Given the description of an element on the screen output the (x, y) to click on. 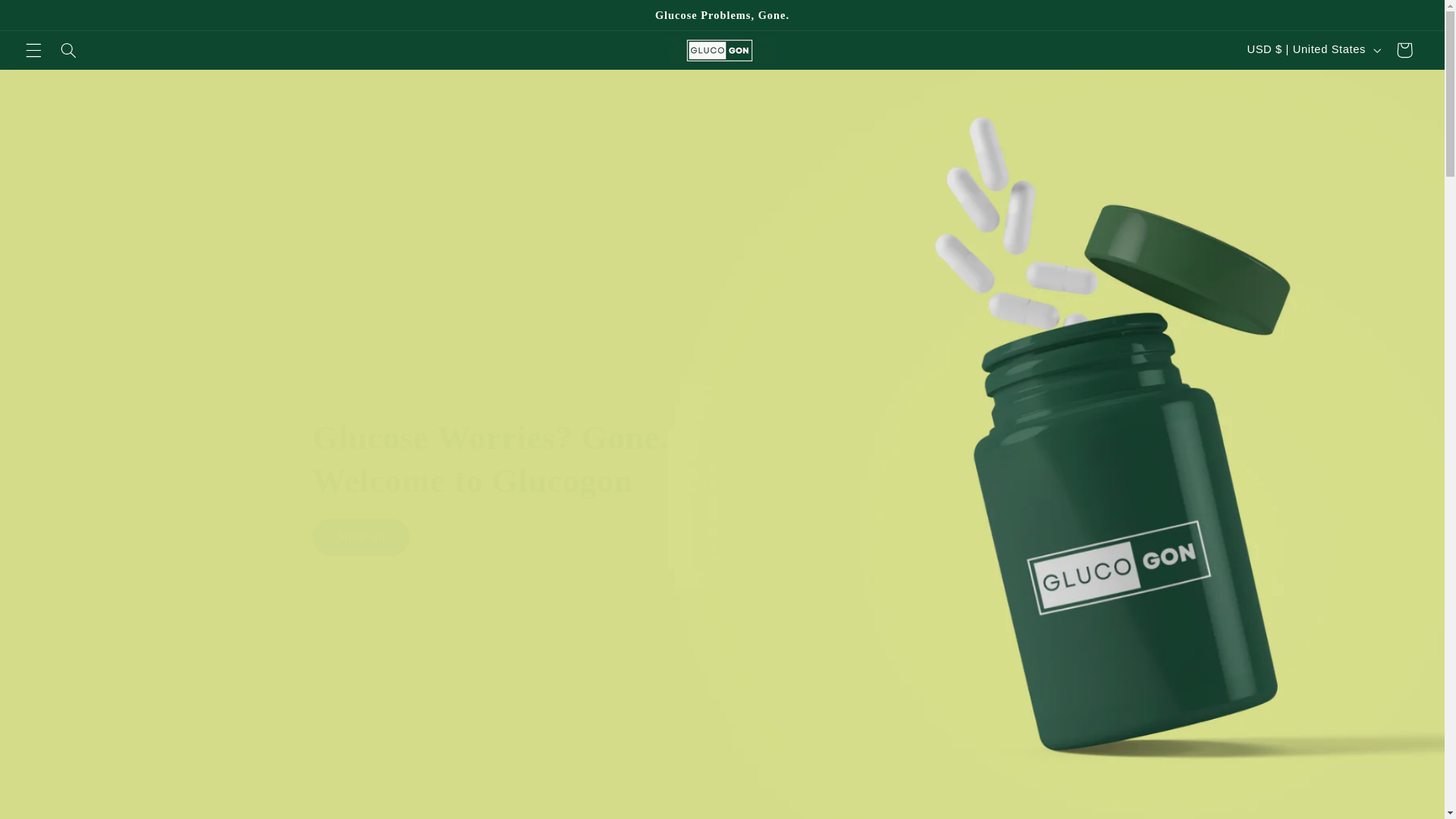
Shop all (361, 537)
Cart (1404, 49)
